Given the description of an element on the screen output the (x, y) to click on. 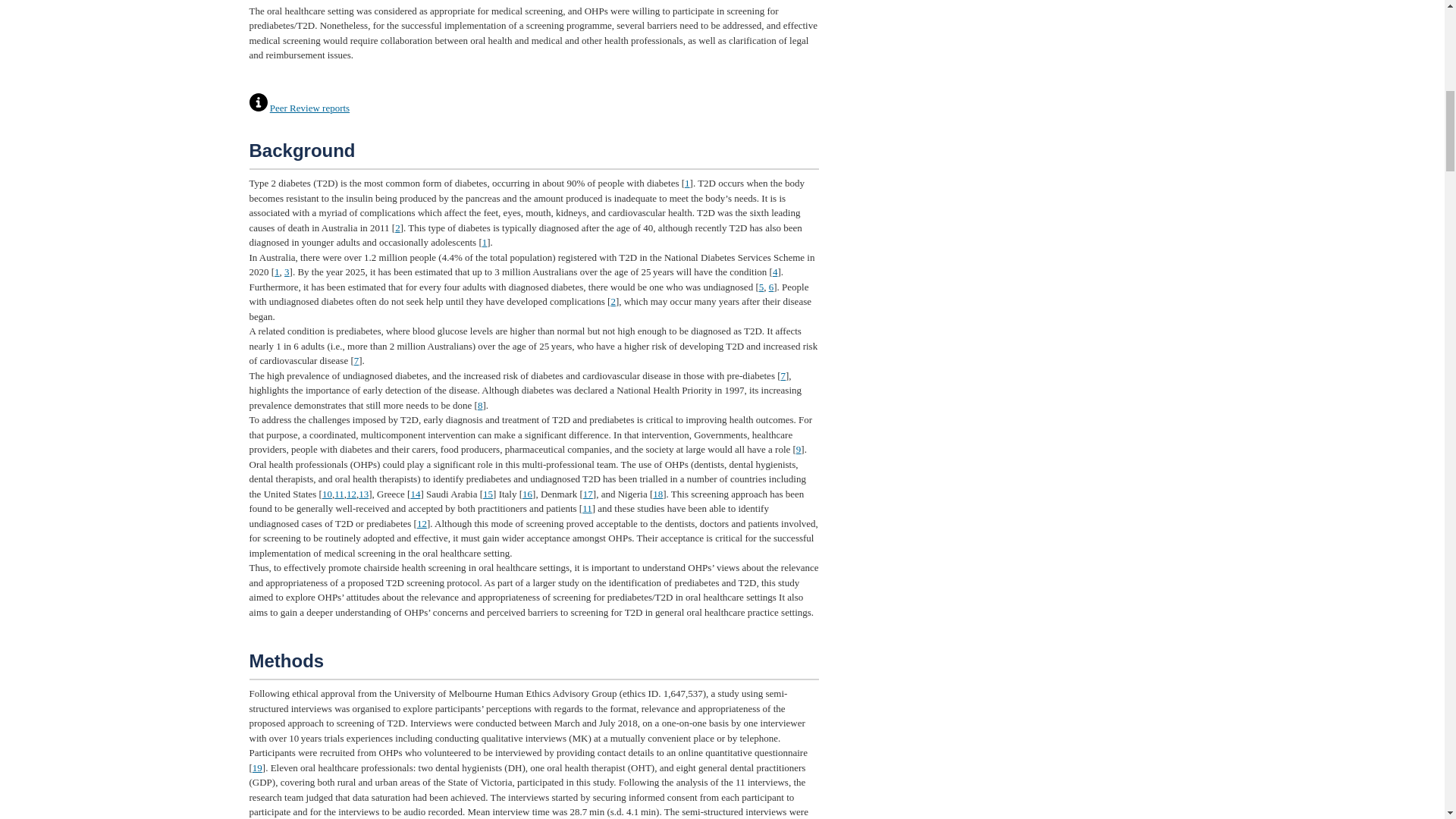
Peer Review reports (309, 107)
